Given the description of an element on the screen output the (x, y) to click on. 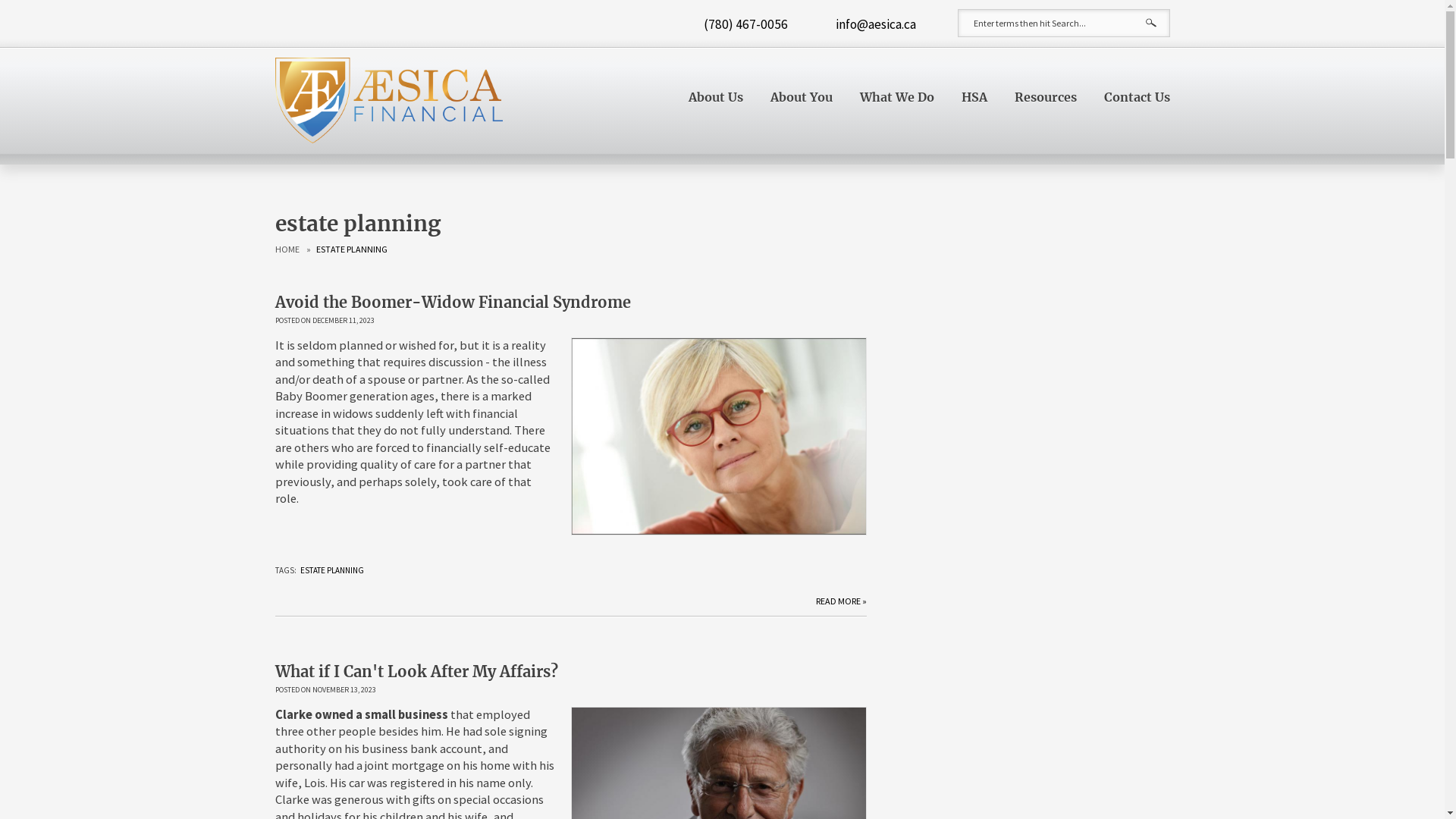
Contact Us Element type: text (1137, 96)
About You Element type: text (801, 96)
Home Element type: hover (388, 106)
READ MORE Element type: text (840, 599)
Skip to main content Element type: text (48, 0)
(780) 467-0056 Element type: text (741, 23)
What if I Can't Look After My Affairs? Element type: text (415, 671)
HOME Element type: text (286, 249)
Avoid the Boomer-Widow Financial Syndrome Element type: text (452, 301)
HSA Element type: text (974, 96)
About Us Element type: text (715, 96)
What We Do Element type: text (896, 96)
Resources Element type: text (1045, 96)
info@aesica.ca Element type: text (872, 23)
ESTATE PLANNING Element type: text (332, 569)
